Given the description of an element on the screen output the (x, y) to click on. 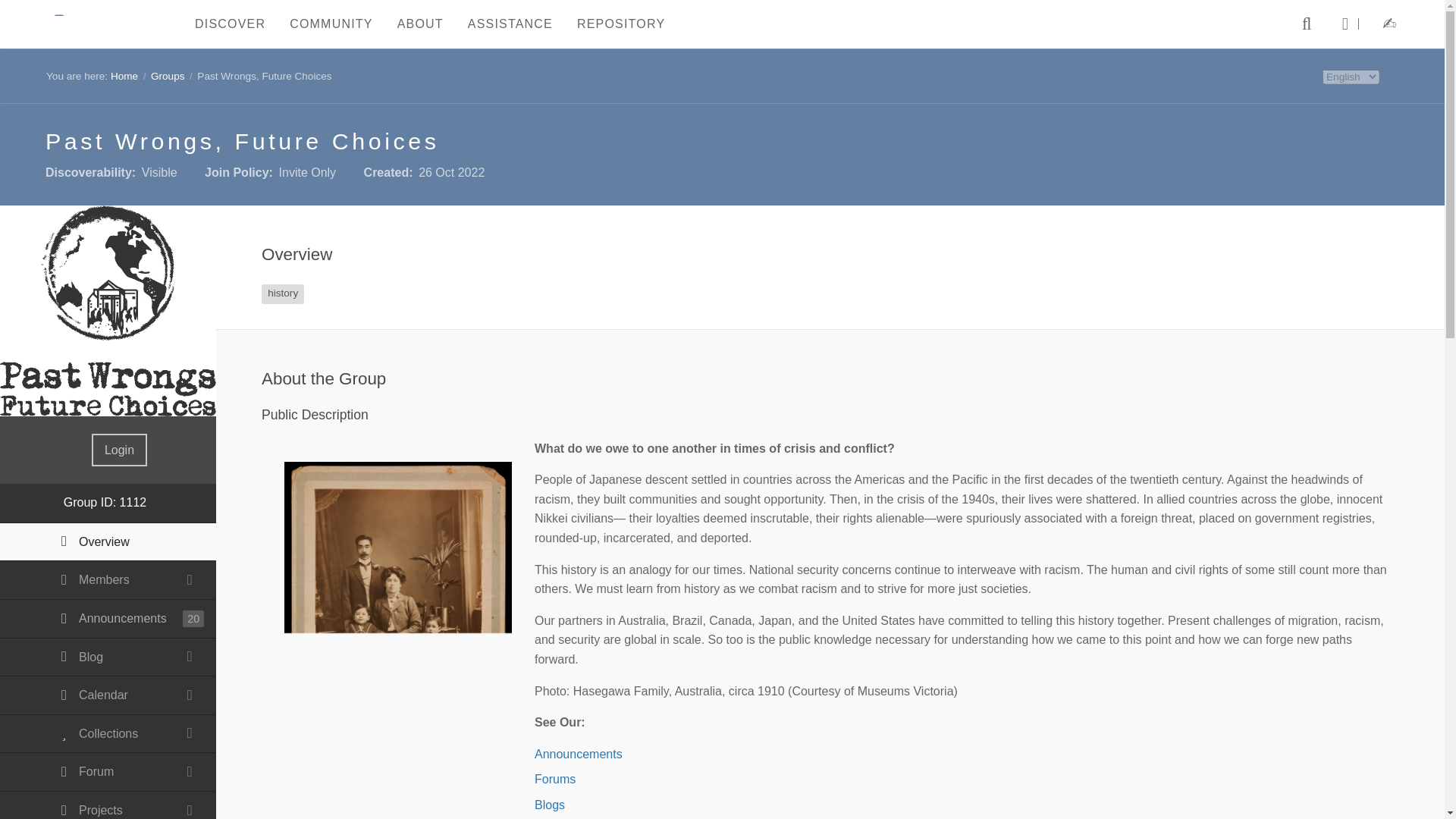
history (283, 293)
ASSISTANCE (509, 24)
COMMUNITY (331, 24)
DISCOVER (230, 24)
This page is restricted to group members only! (107, 657)
ABOUT (420, 24)
Announcements (107, 618)
This page is restricted to group members only! (107, 805)
This page is restricted to group members only! (107, 580)
Past Wrongs, Future Choices Home (107, 310)
